Given the description of an element on the screen output the (x, y) to click on. 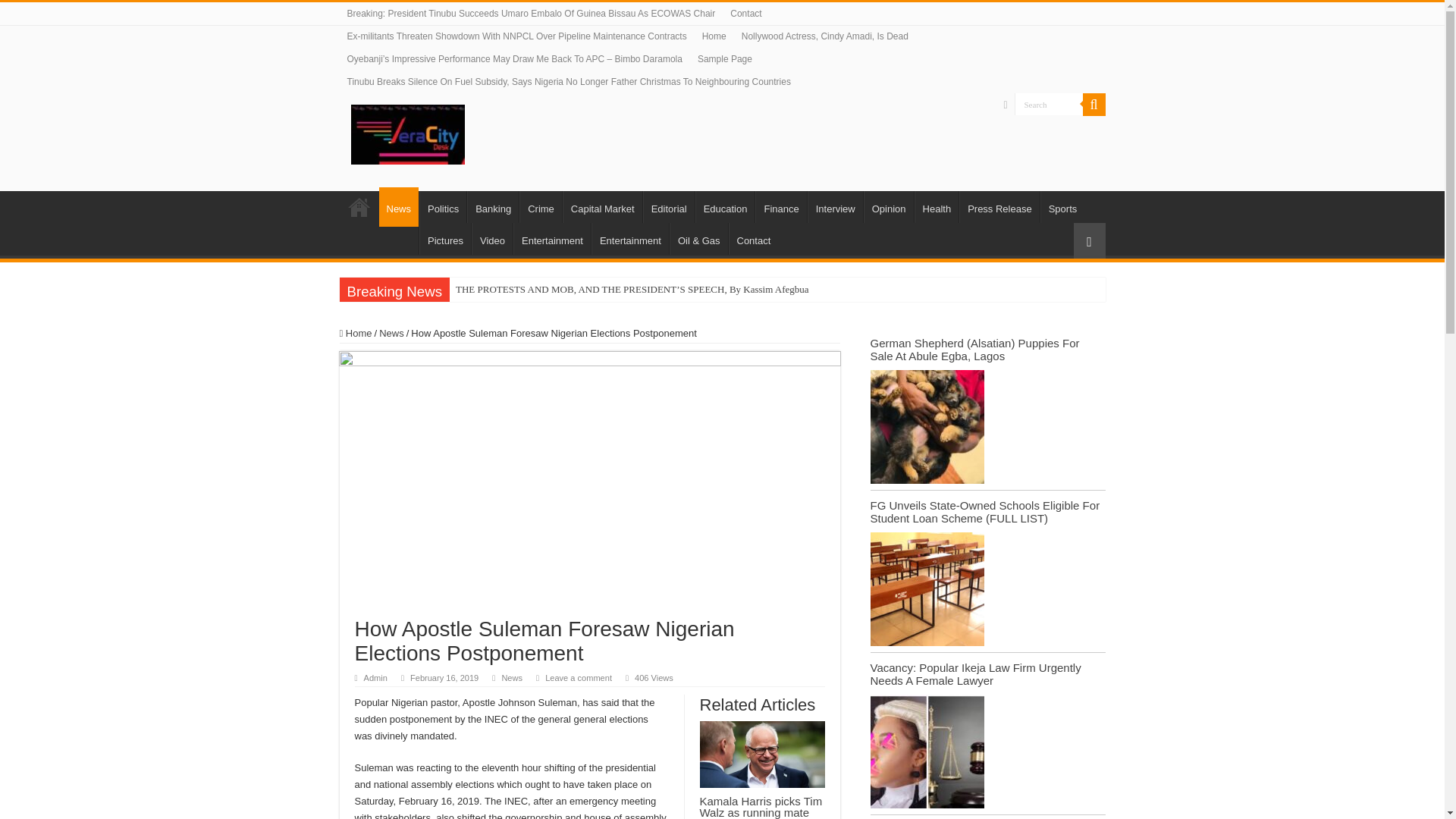
Veracity Desk (407, 131)
Search (1094, 104)
Politics (442, 206)
Crime (540, 206)
Search (1048, 104)
News (398, 206)
Banking (492, 206)
Search (1048, 104)
